Given the description of an element on the screen output the (x, y) to click on. 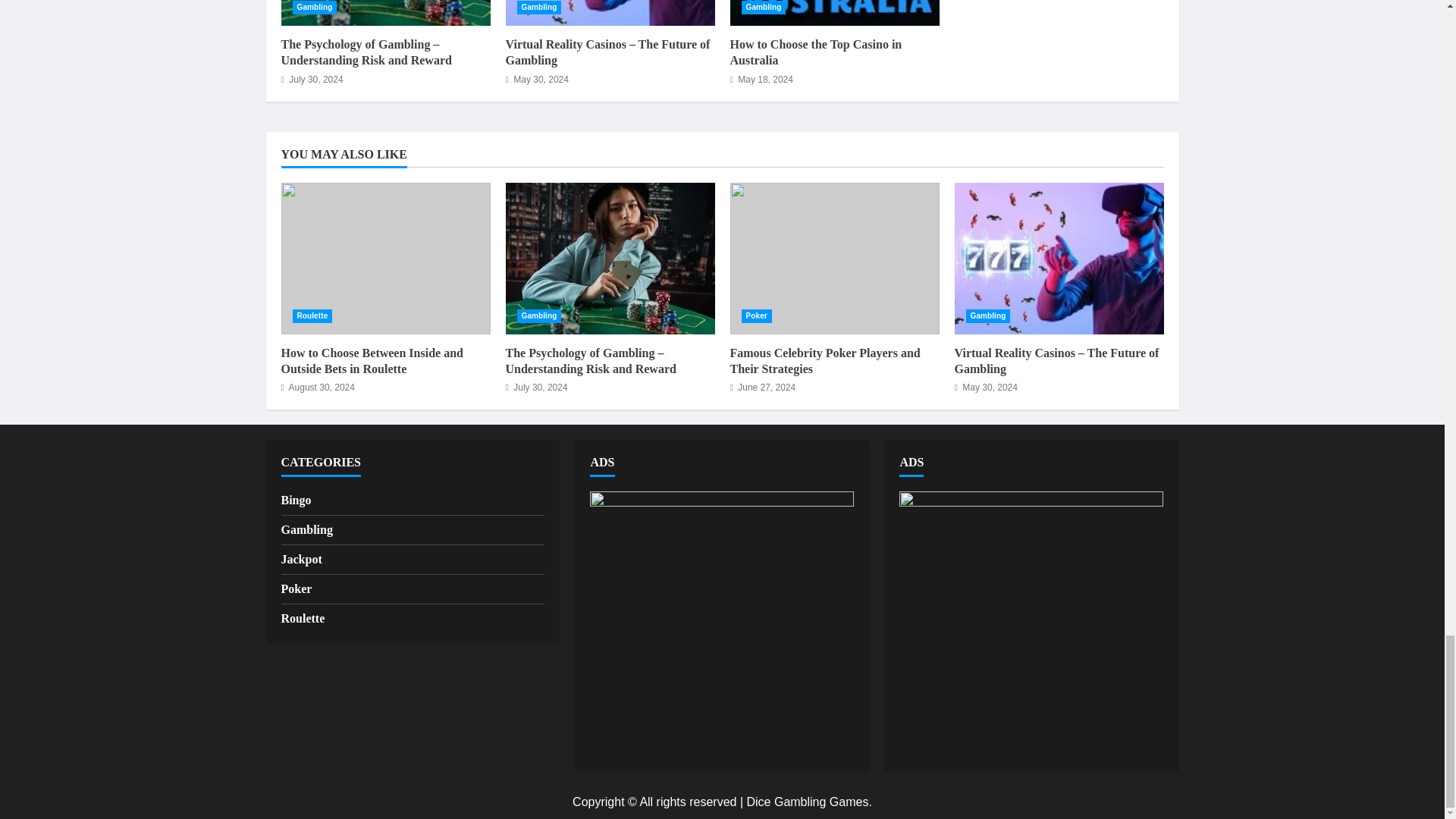
Roulette (312, 315)
Famous Celebrity Poker Players and Their Strategies (834, 258)
Gambling (539, 315)
Ads (721, 623)
Poker (756, 315)
How to Choose the Top Casino in Australia (834, 12)
Gambling (763, 7)
Gambling (314, 7)
How to Choose the Top Casino in Australia (815, 51)
Gambling (539, 7)
